Given the description of an element on the screen output the (x, y) to click on. 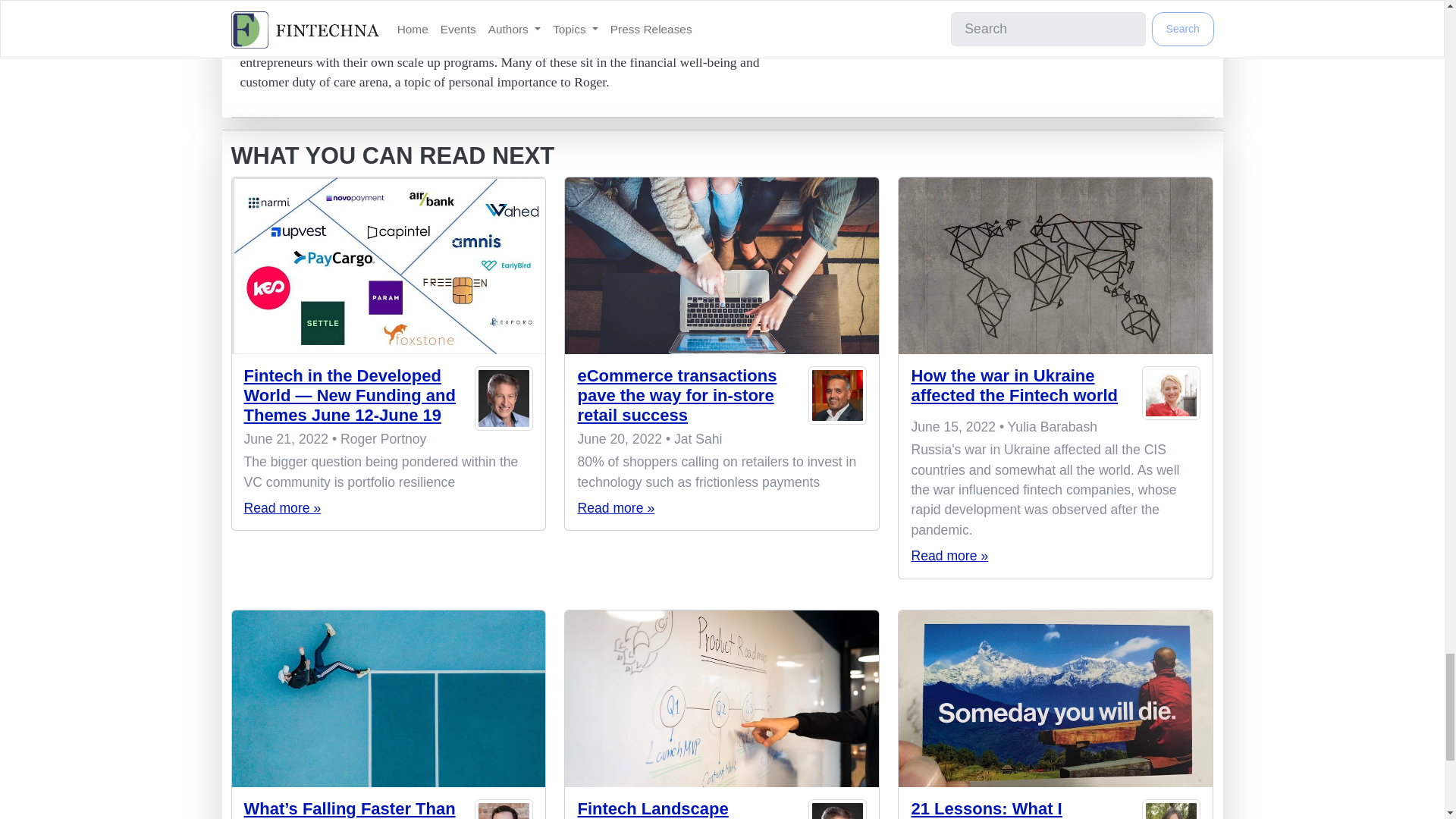
Jat Sahi (837, 399)
Yulia Barabash (1170, 393)
How the war in Ukraine affected the Fintech world (1055, 265)
Chris Rigoni (503, 809)
How the war in Ukraine affected the Fintech world (949, 555)
Roger Portnoy (503, 399)
How the war in Ukraine affected the Fintech world (1014, 385)
